Given the description of an element on the screen output the (x, y) to click on. 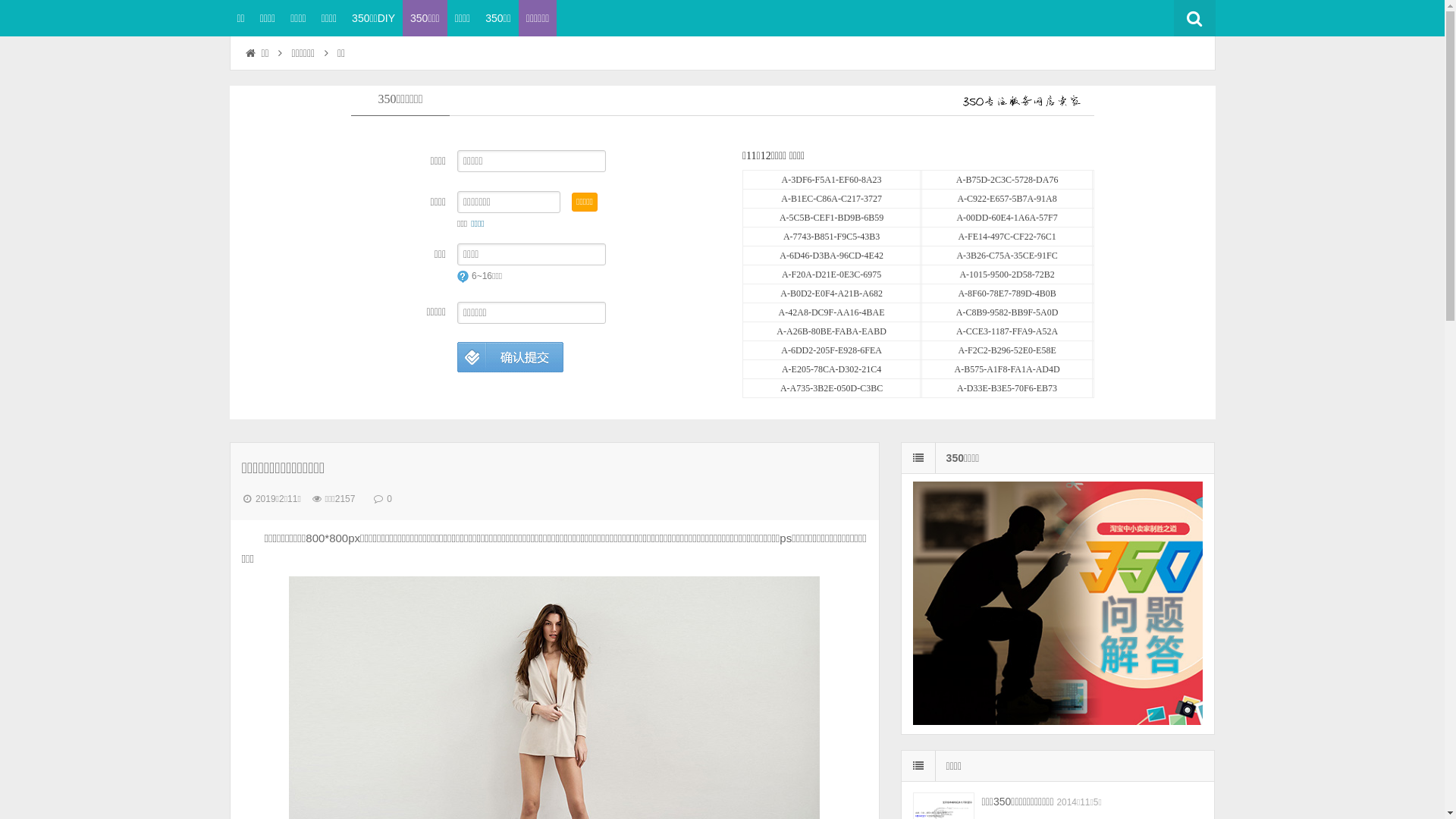
0 Element type: text (389, 498)
